Given the description of an element on the screen output the (x, y) to click on. 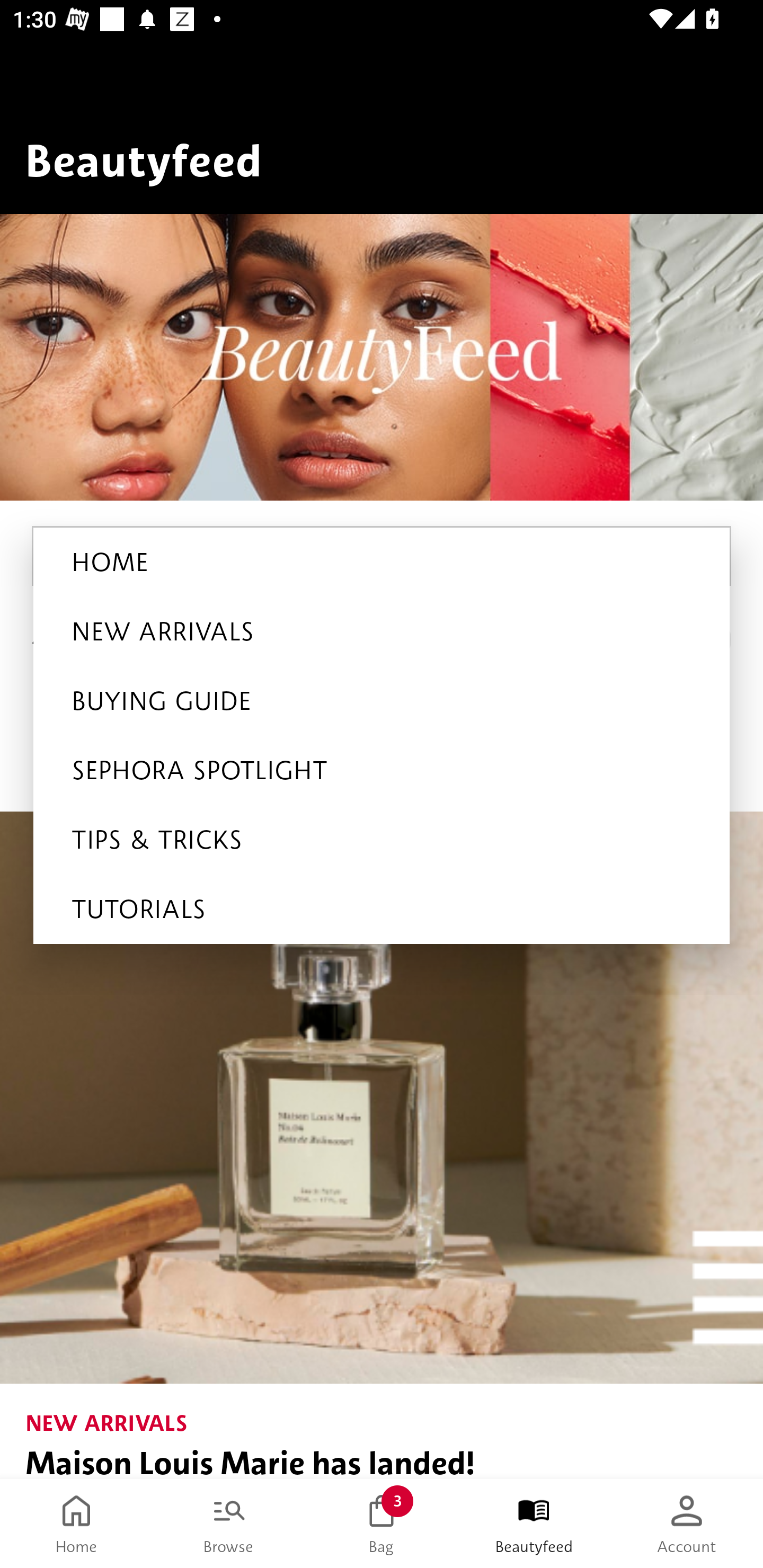
HOME (381, 561)
NEW ARRIVALS (381, 631)
BUYING GUIDE (381, 700)
SEPHORA SPOTLIGHT (381, 770)
TIPS & TRICKS (381, 839)
TUTORIALS (381, 908)
